Given the description of an element on the screen output the (x, y) to click on. 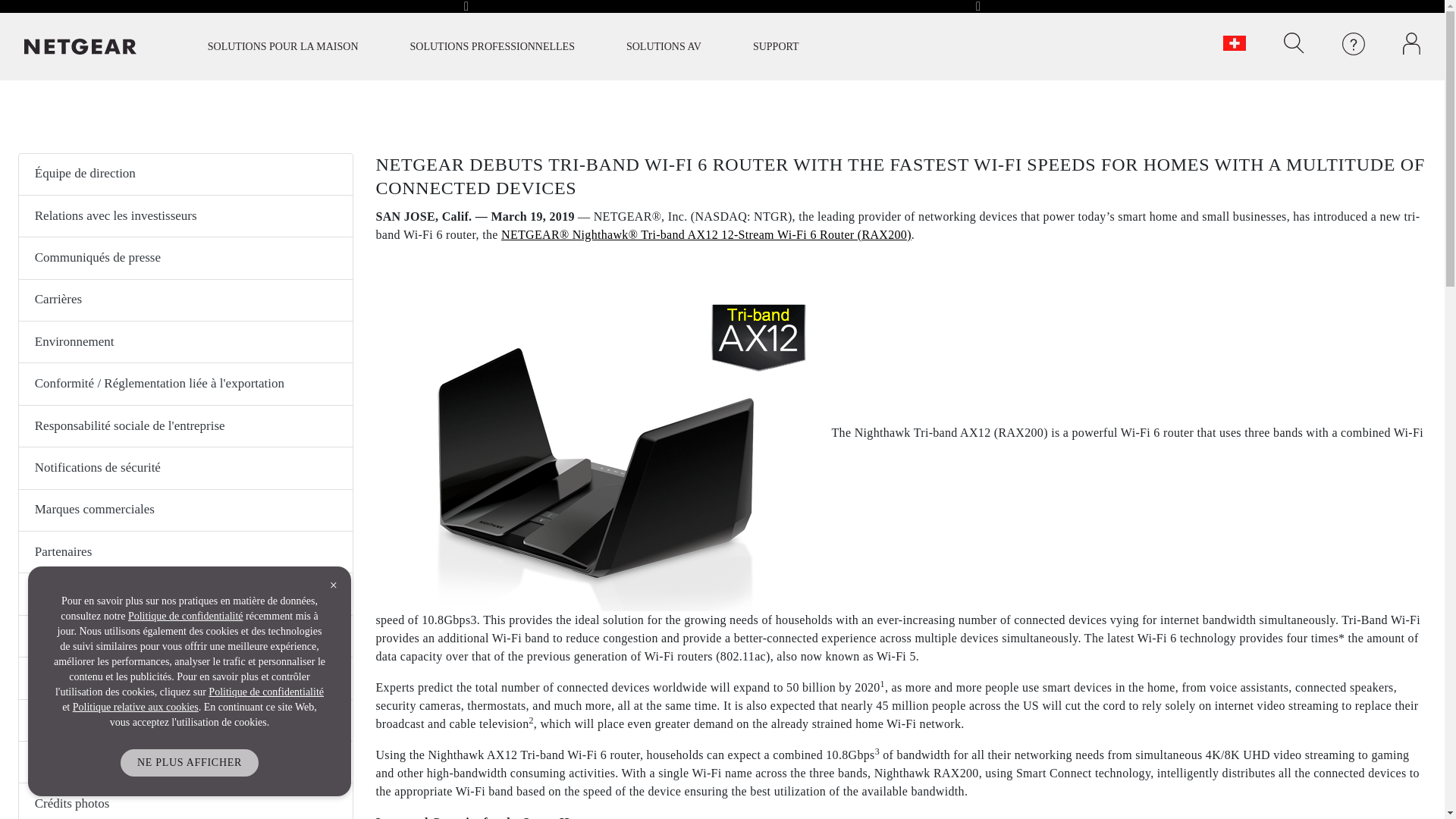
Previous (466, 9)
Next (978, 9)
SOLUTIONS POUR LA MAISON (282, 45)
SOLUTIONS PROFESSIONNELLES (491, 45)
